Given the description of an element on the screen output the (x, y) to click on. 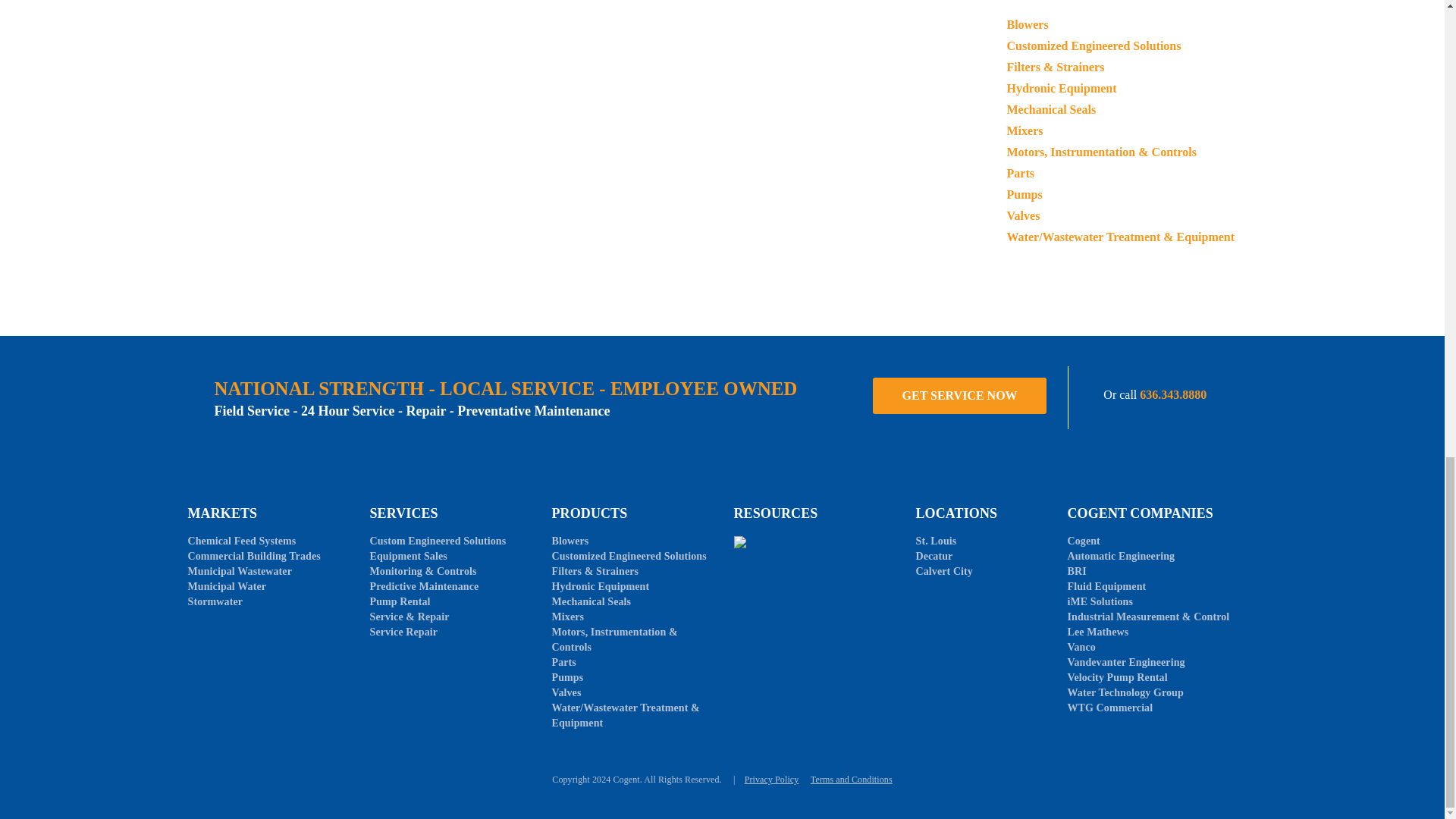
lee mathews (1097, 632)
automatic engineering (1120, 555)
velocity pump rental (1117, 677)
vanco (1080, 646)
Cogent (1083, 541)
vandevanter engineering (1126, 662)
ime solutions (1099, 601)
water technology group (1124, 692)
bri (1076, 571)
wtg commercial (1110, 707)
